Given the description of an element on the screen output the (x, y) to click on. 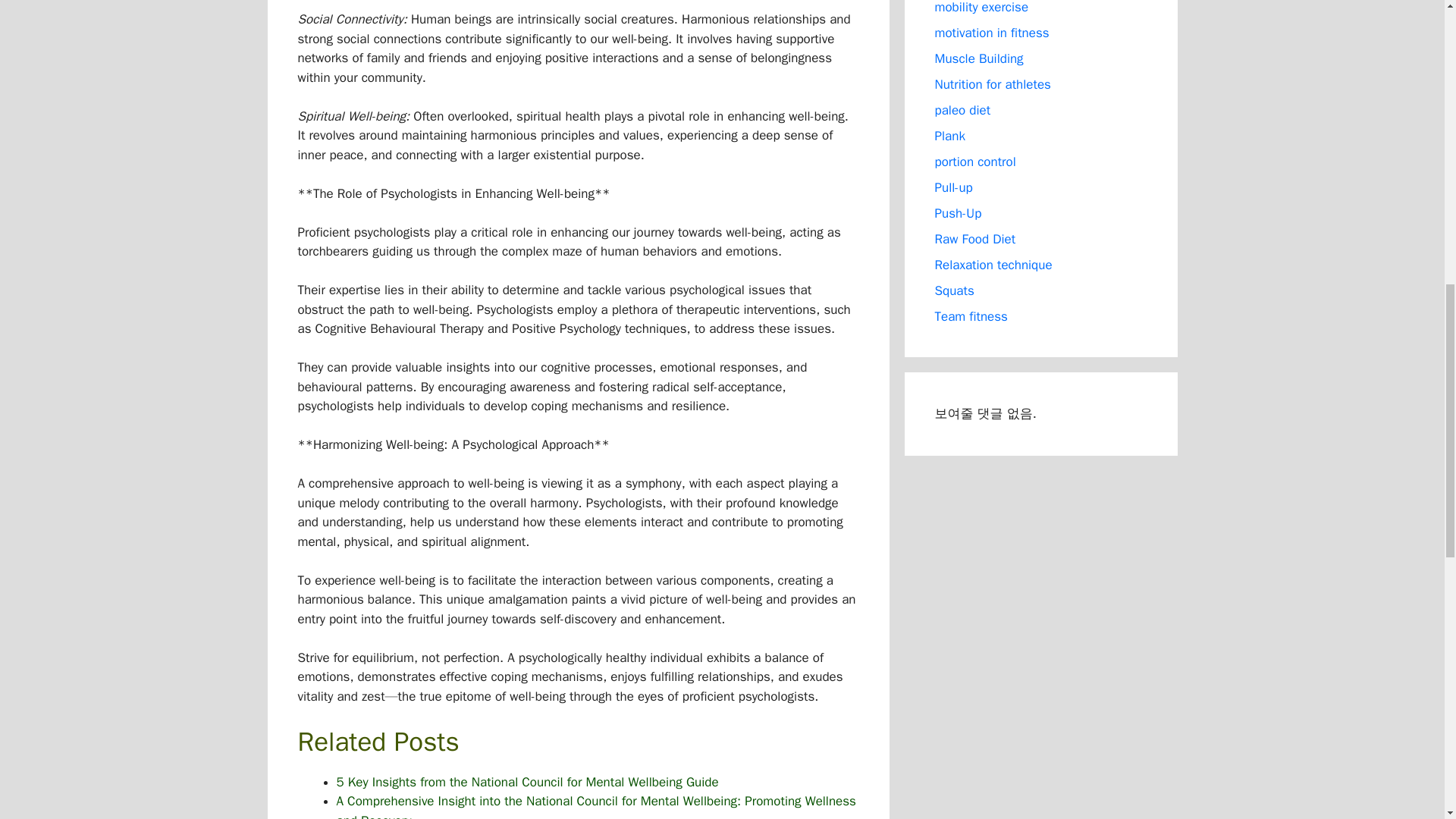
Scroll back to top (1406, 720)
